Given the description of an element on the screen output the (x, y) to click on. 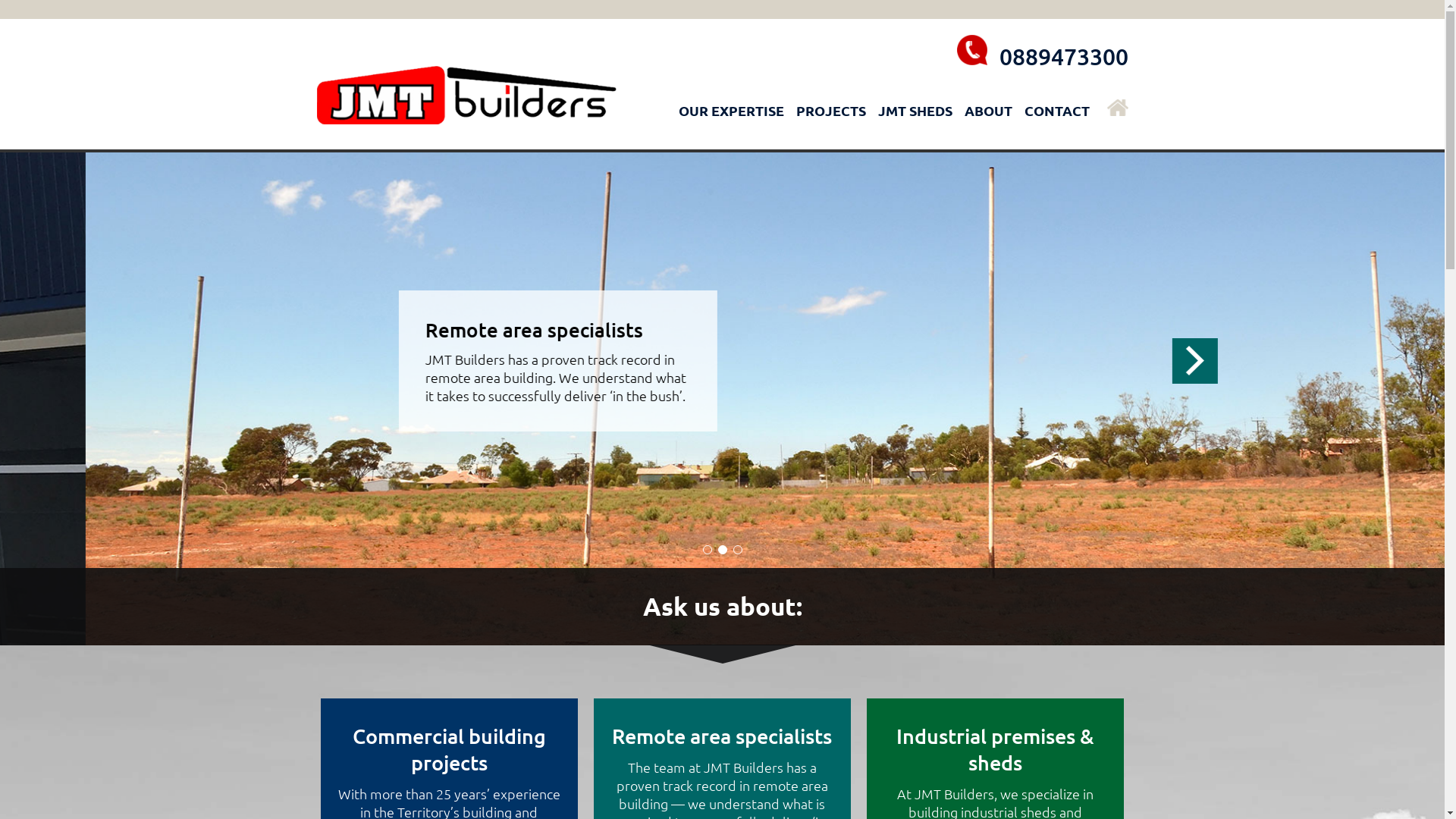
2 Element type: text (721, 549)
JMT SHEDS Element type: text (915, 122)
OUR EXPERTISE Element type: text (730, 122)
ABOUT Element type: text (988, 122)
3 Element type: text (736, 549)
0889473300 Element type: text (1063, 56)
CONTACT Element type: text (1056, 122)
1 Element type: text (706, 549)
PROJECTS Element type: text (830, 122)
